Given the description of an element on the screen output the (x, y) to click on. 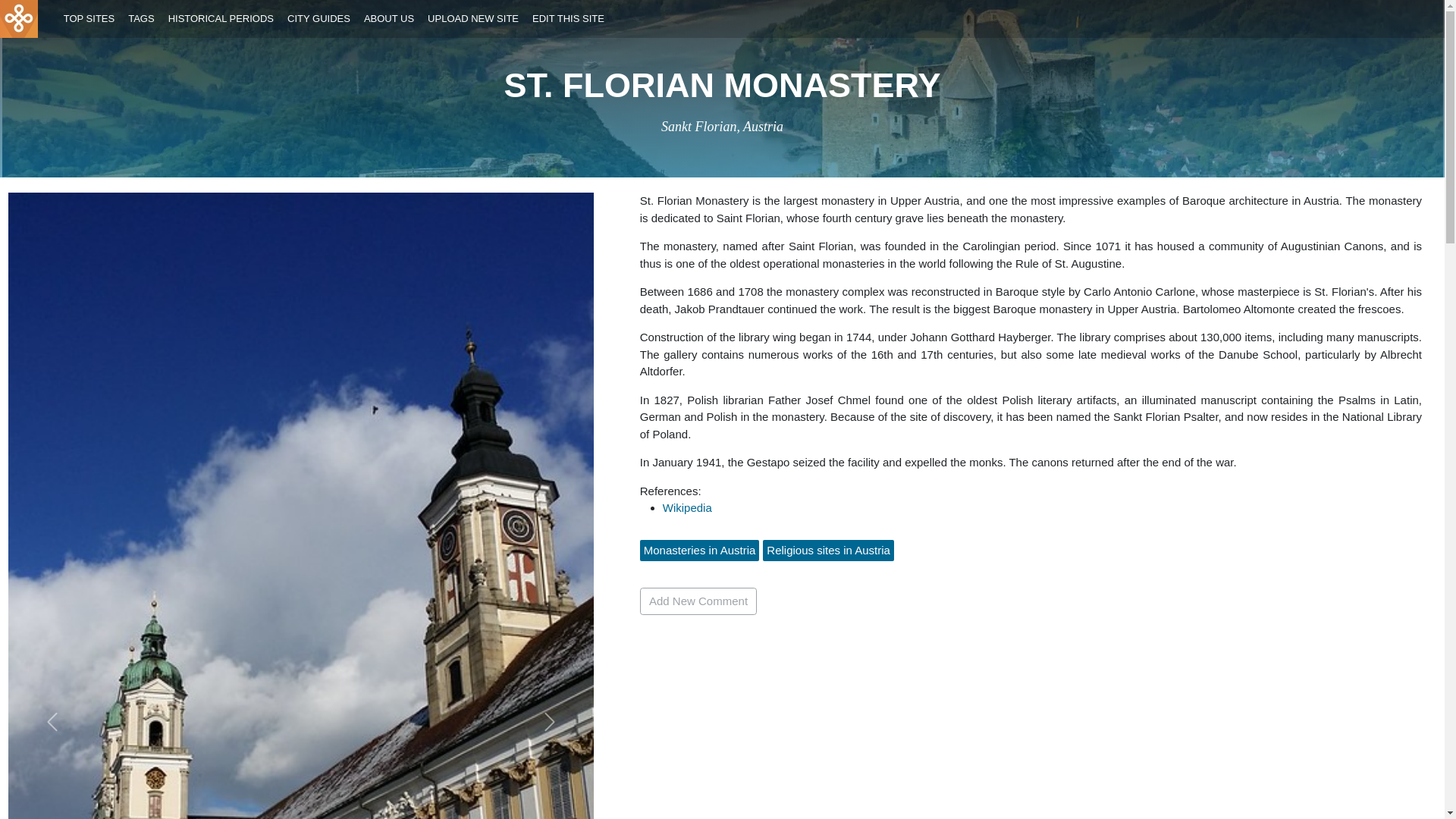
Religious sites in Austria (828, 549)
Sankt Florian, Austria (722, 126)
CITY GUIDES (319, 18)
Add New Comment (698, 601)
Login to edit site information! (568, 18)
Monasteries in Austria (699, 549)
UPLOAD NEW SITE (473, 18)
Display on map (722, 126)
TAGS (141, 18)
ABOUT US (388, 18)
EDIT THIS SITE (568, 18)
HISTORICAL PERIODS (220, 18)
Wikipedia (686, 507)
TOP SITES (88, 18)
